Given the description of an element on the screen output the (x, y) to click on. 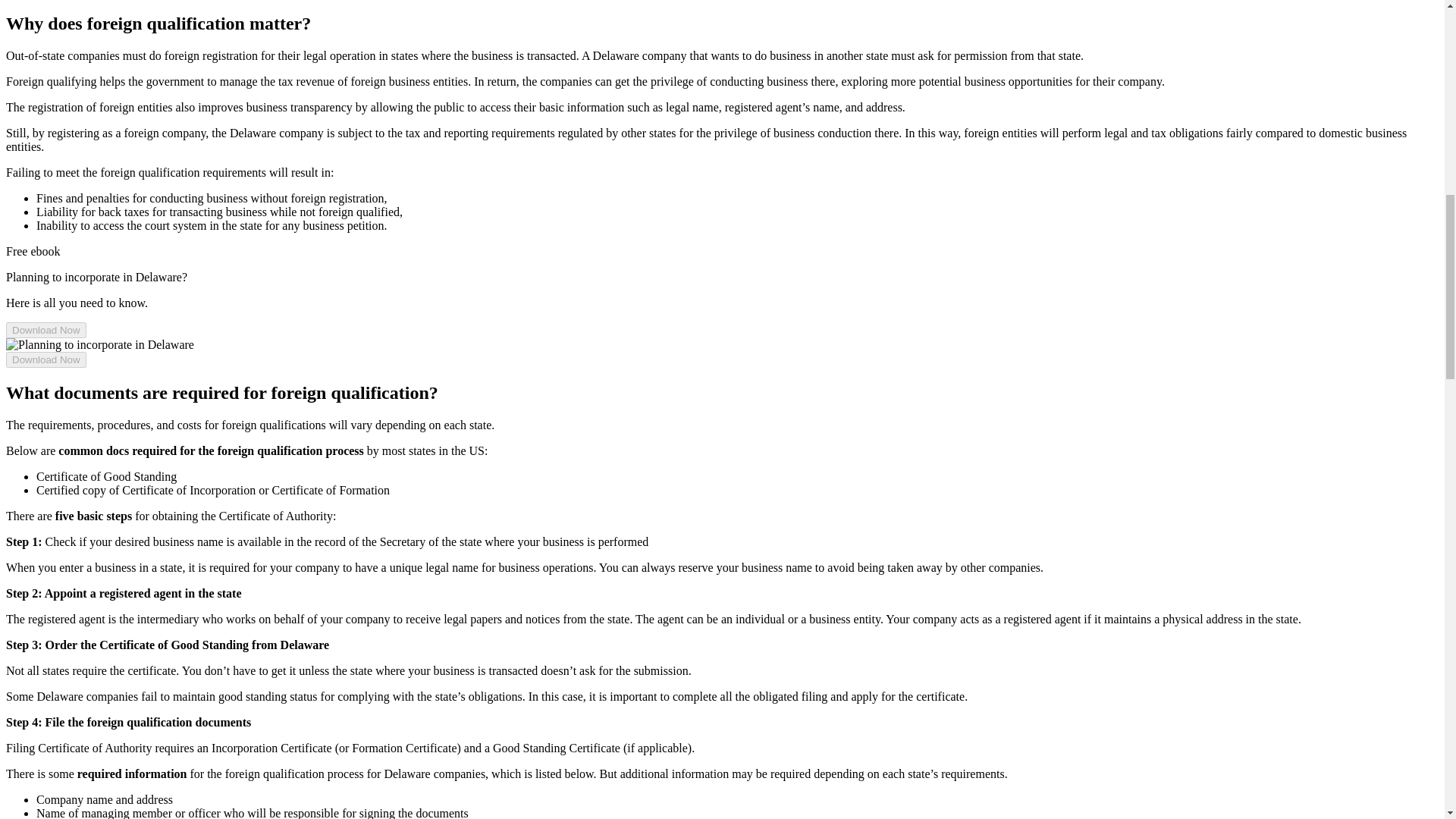
Download Now (45, 330)
Download Now (45, 359)
